Given the description of an element on the screen output the (x, y) to click on. 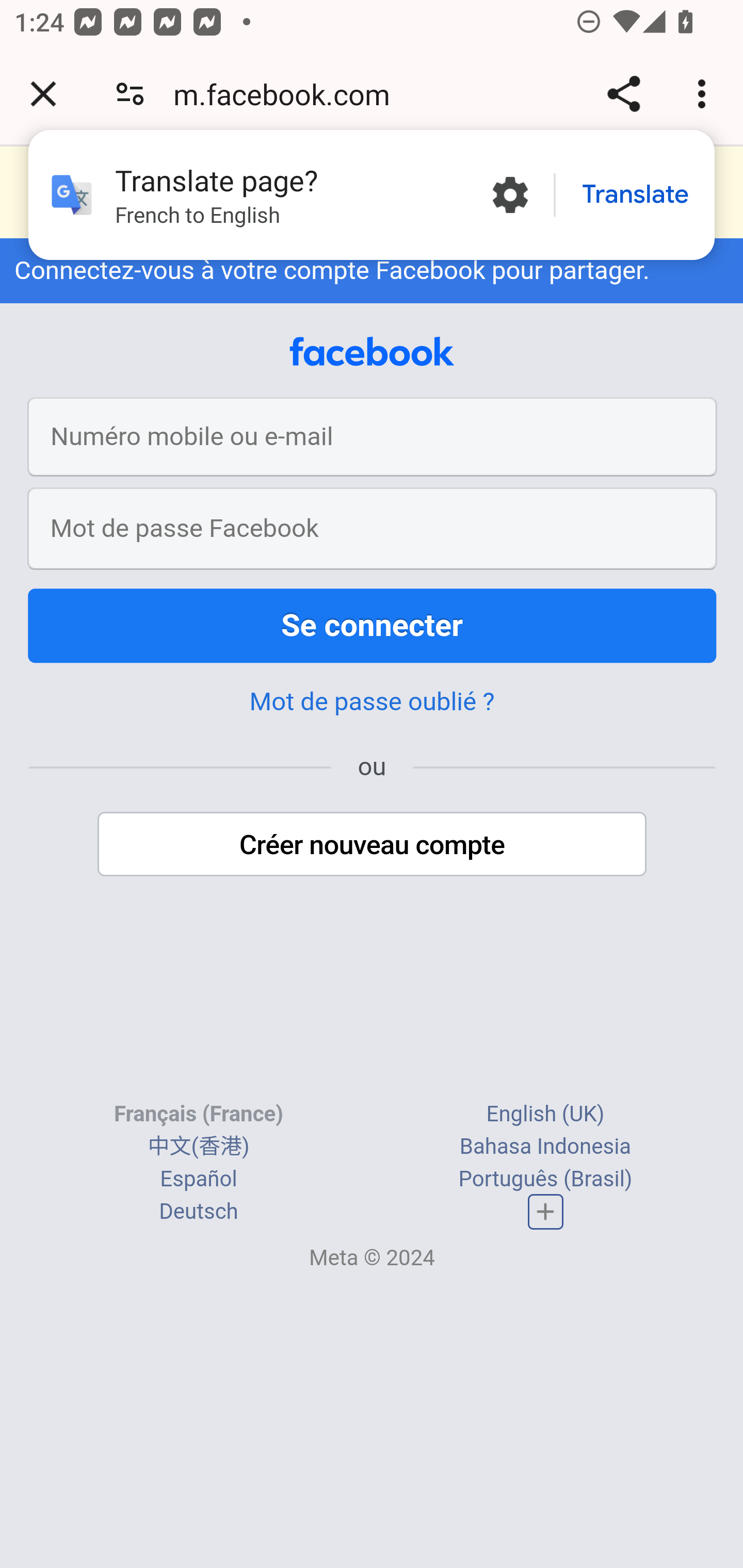
Close tab (43, 93)
Share (623, 93)
Customize and control Google Chrome (705, 93)
Connection is secure (129, 93)
m.facebook.com (288, 93)
Translate (634, 195)
More options in the Translate page? (509, 195)
facebook (372, 351)
Se connecter (372, 624)
Mot de passe oublié ? (371, 701)
Créer nouveau compte (372, 844)
English (UK) (544, 1113)
中文(香港) (198, 1146)
Bahasa Indonesia (545, 1146)
Español (198, 1179)
Português (Brasil) (544, 1179)
Liste complète des langues (545, 1211)
Deutsch (198, 1211)
